Given the description of an element on the screen output the (x, y) to click on. 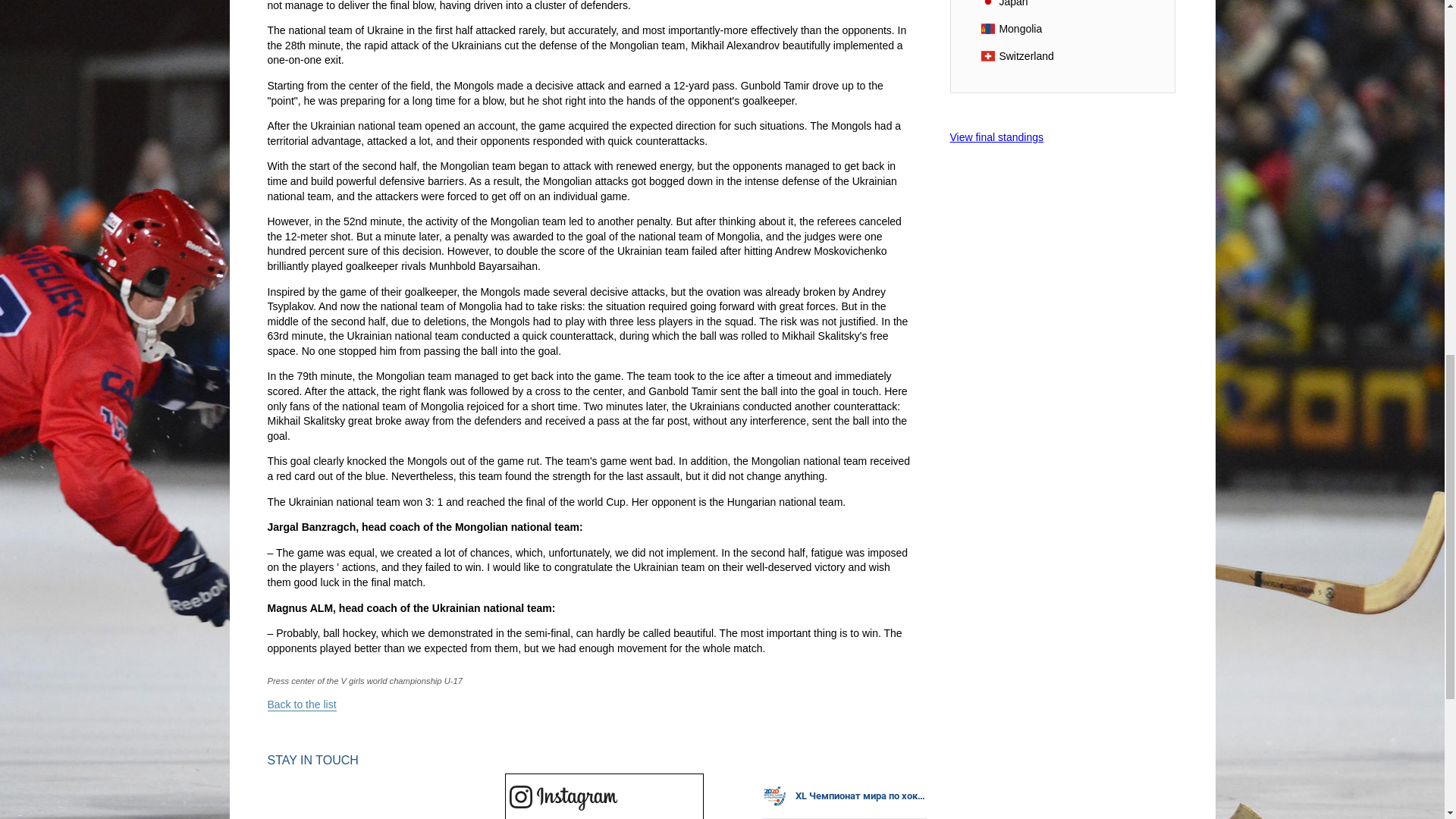
Back to the list (301, 704)
View final standings (995, 137)
